Given the description of an element on the screen output the (x, y) to click on. 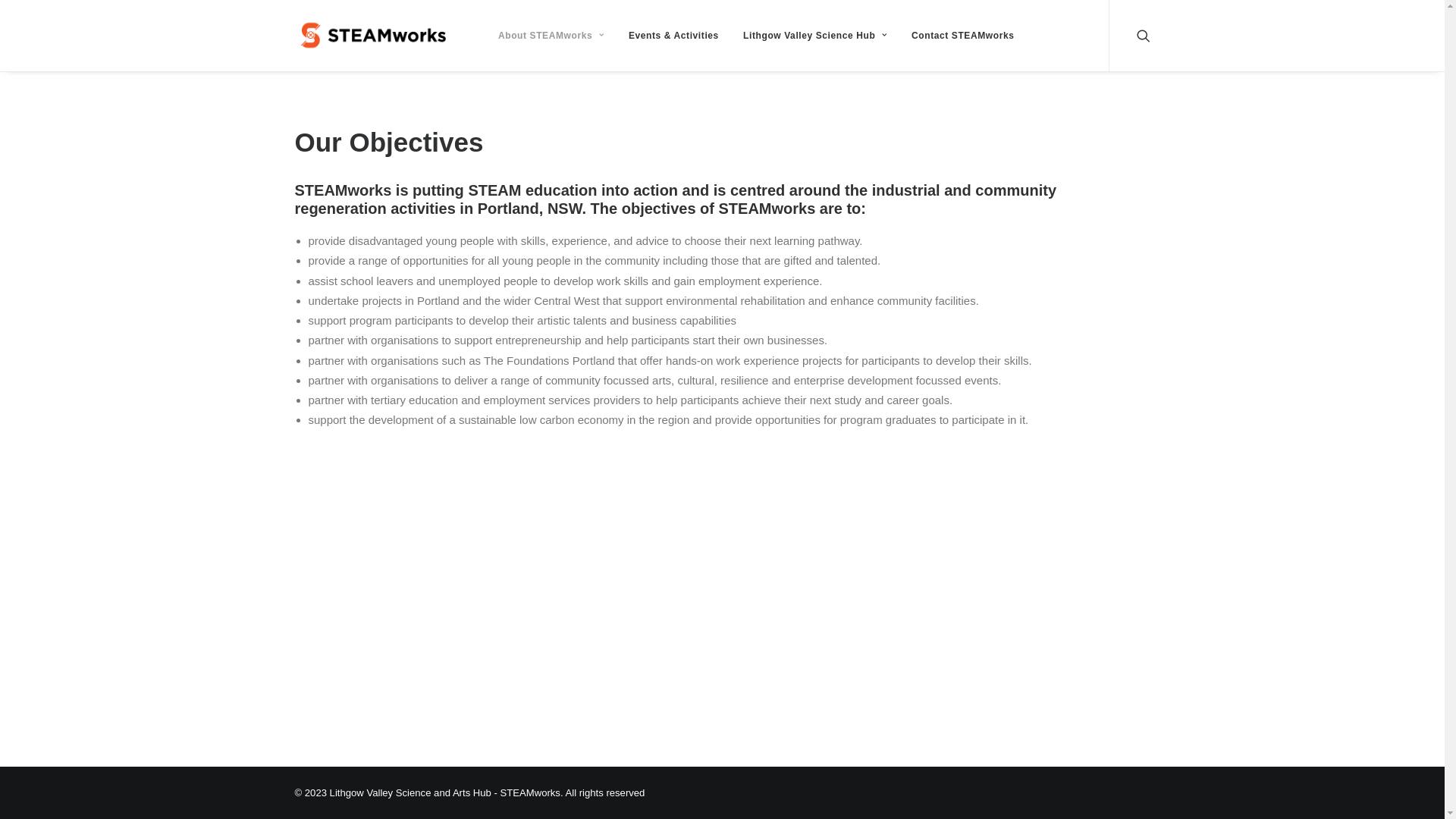
About STEAMworks Element type: text (551, 35)
Events & Activities Element type: text (673, 35)
Lithgow Valley Science Hub Element type: text (814, 35)
Contact STEAMworks Element type: text (956, 35)
